Given the description of an element on the screen output the (x, y) to click on. 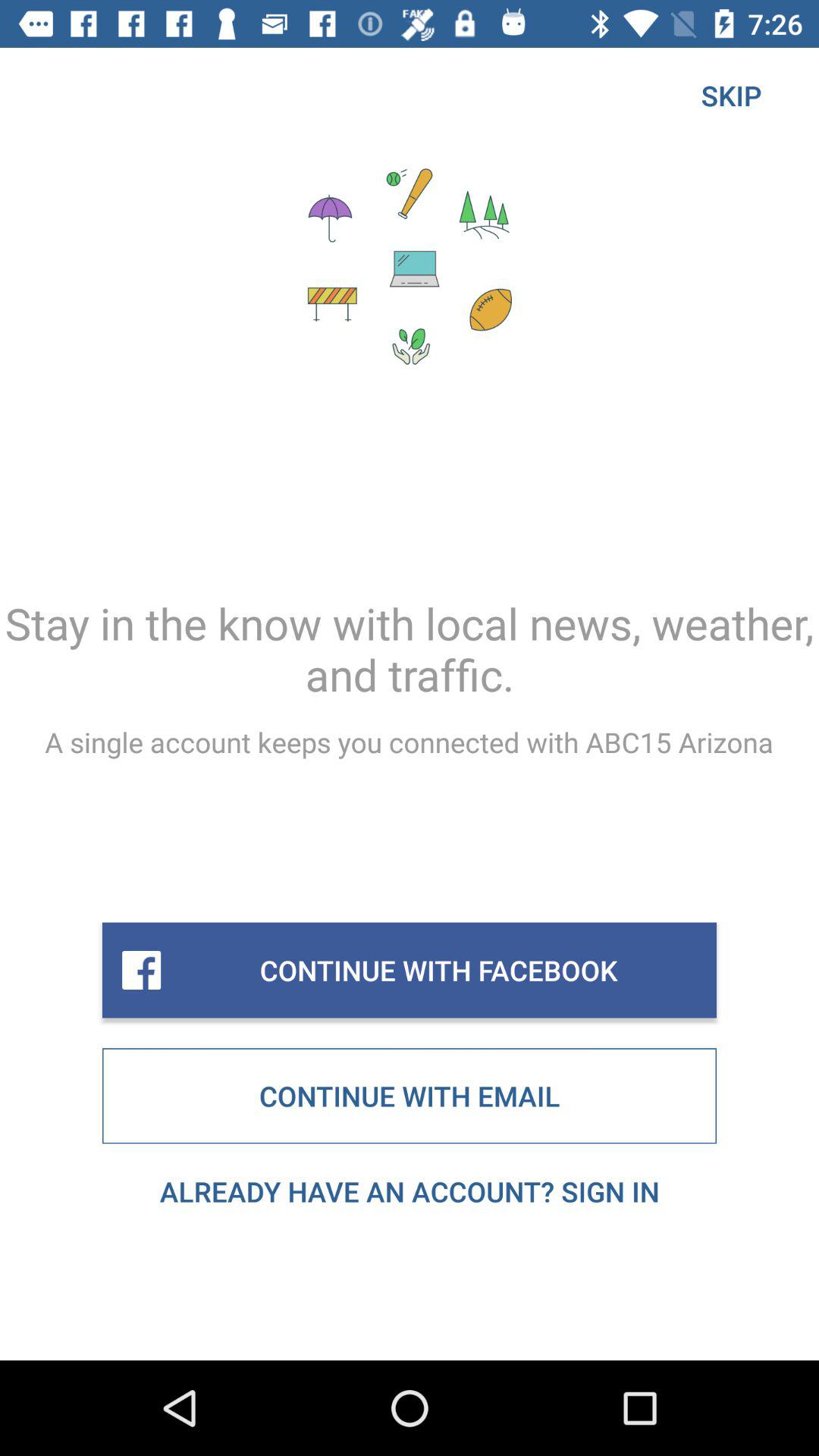
tap icon above the stay in the icon (731, 95)
